Given the description of an element on the screen output the (x, y) to click on. 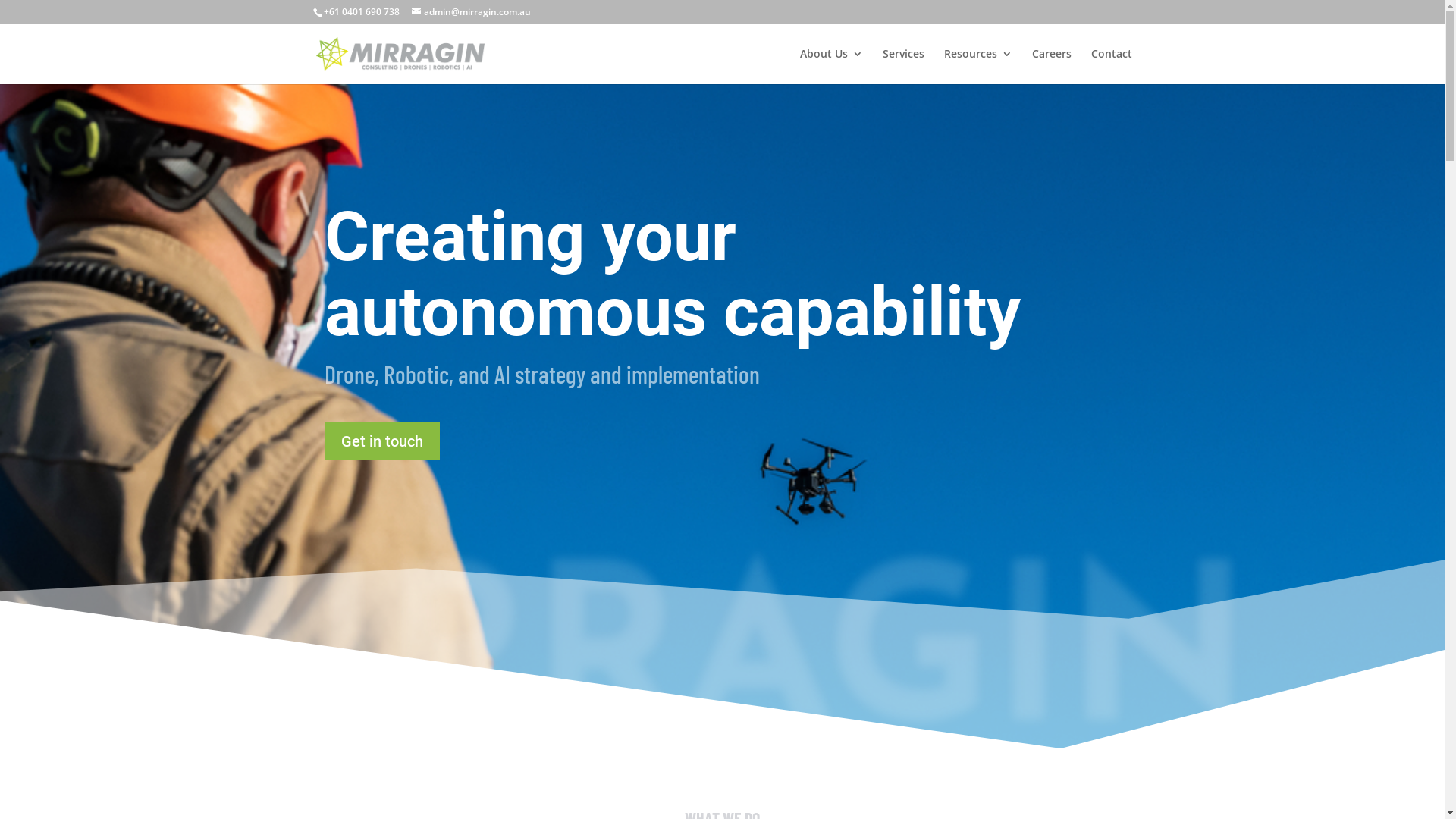
About Us Element type: text (830, 66)
Contact Element type: text (1110, 66)
Careers Element type: text (1050, 66)
Get in touch Element type: text (381, 441)
+61 0401 690 738 Element type: text (360, 11)
admin@mirragin.com.au Element type: text (470, 11)
Resources Element type: text (977, 66)
Services Element type: text (903, 66)
